Given the description of an element on the screen output the (x, y) to click on. 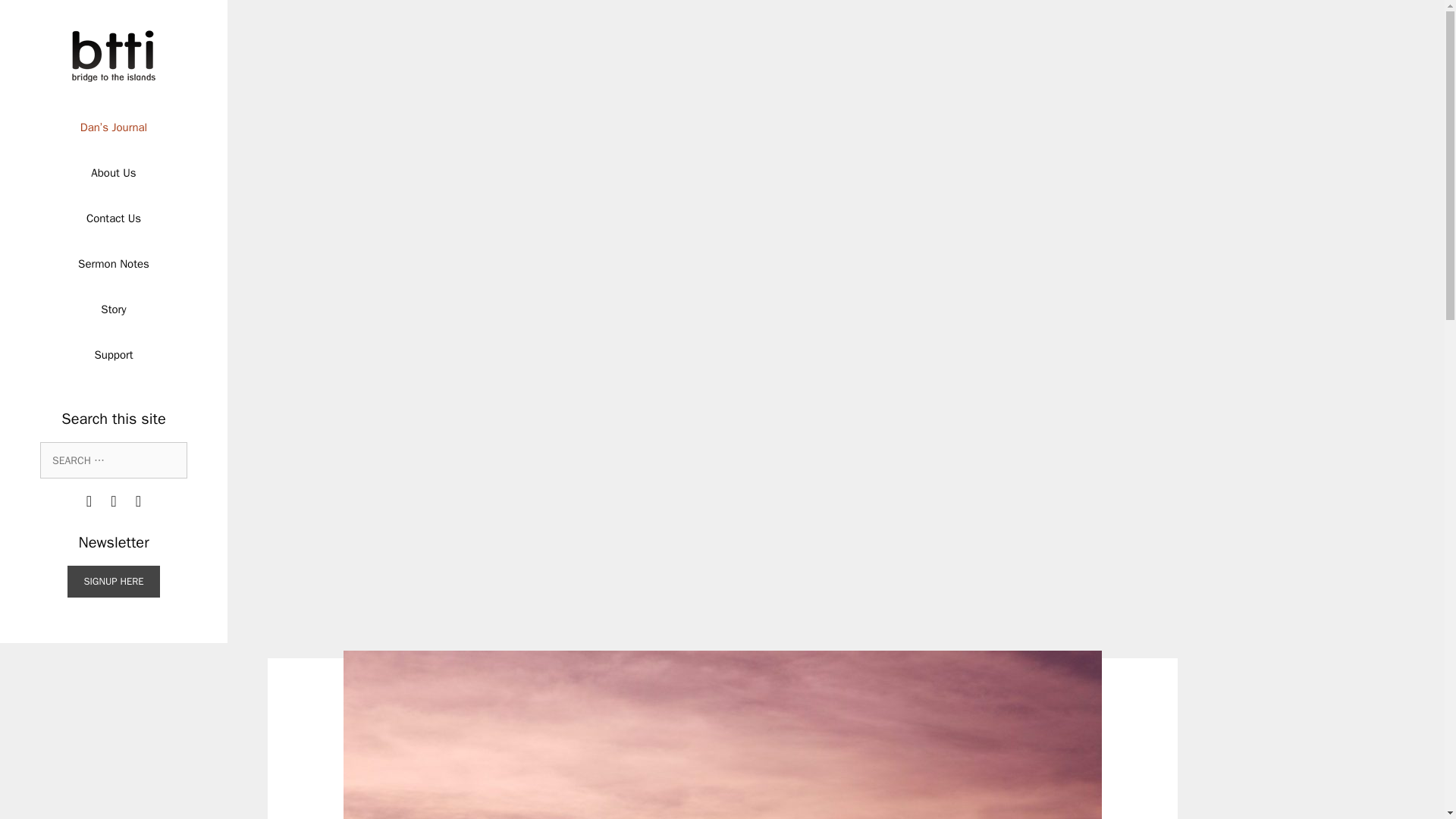
Bridge to the Islands (113, 54)
Sermon Notes (113, 263)
Search for: (113, 460)
Support (113, 354)
SIGNUP HERE (112, 581)
Story (113, 309)
About Us (113, 172)
Search (33, 15)
Contact Us (113, 217)
Bridge to the Islands (113, 55)
